Given the description of an element on the screen output the (x, y) to click on. 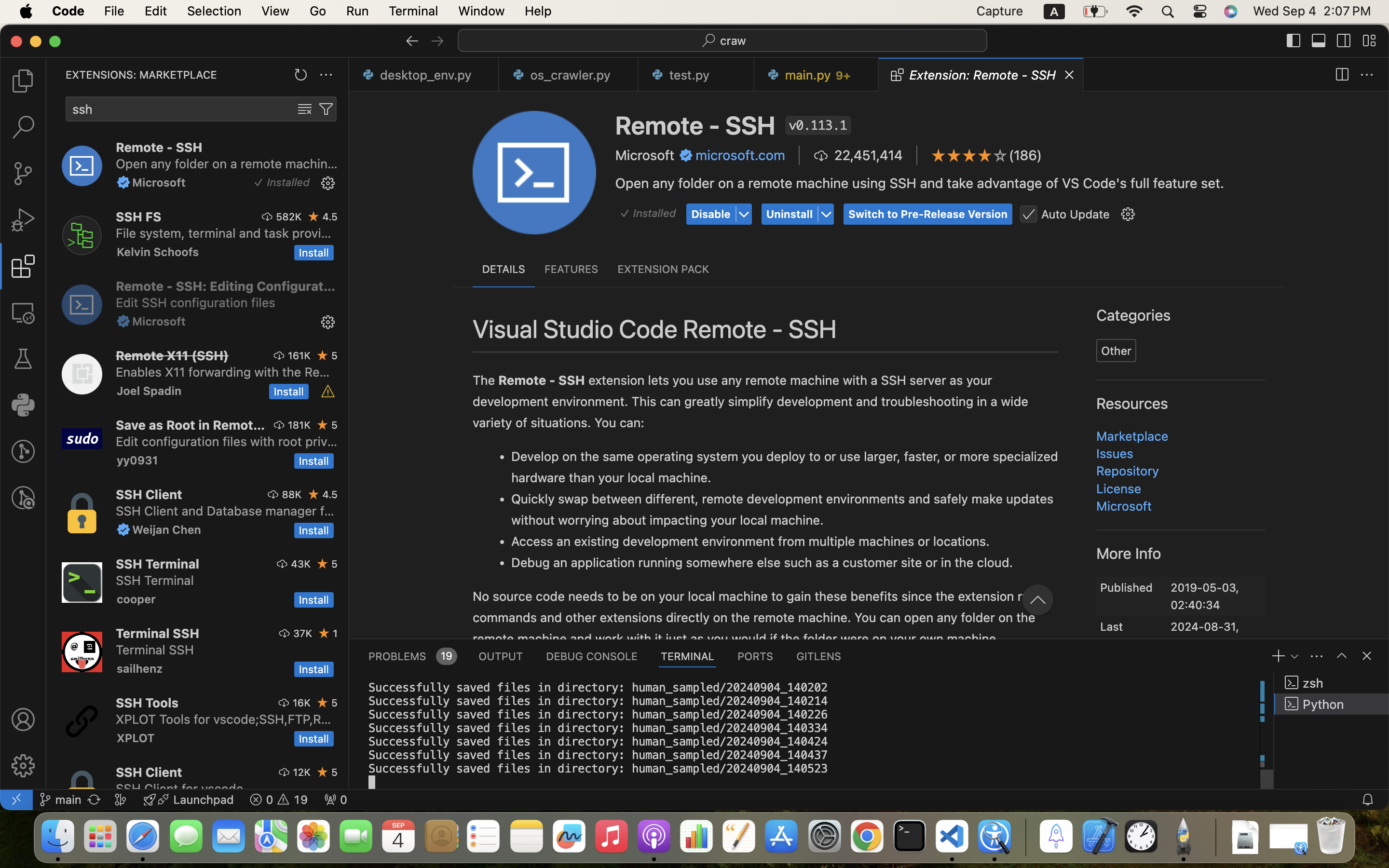
 Element type: AXButton (1369, 40)
22,451,414  Element type: AXGroup (857, 154)
0 OUTPUT Element type: AXRadioButton (500, 655)
 Element type: AXStaticText (22, 497)
0 desktop_env.py   Element type: AXRadioButton (424, 74)
